Given the description of an element on the screen output the (x, y) to click on. 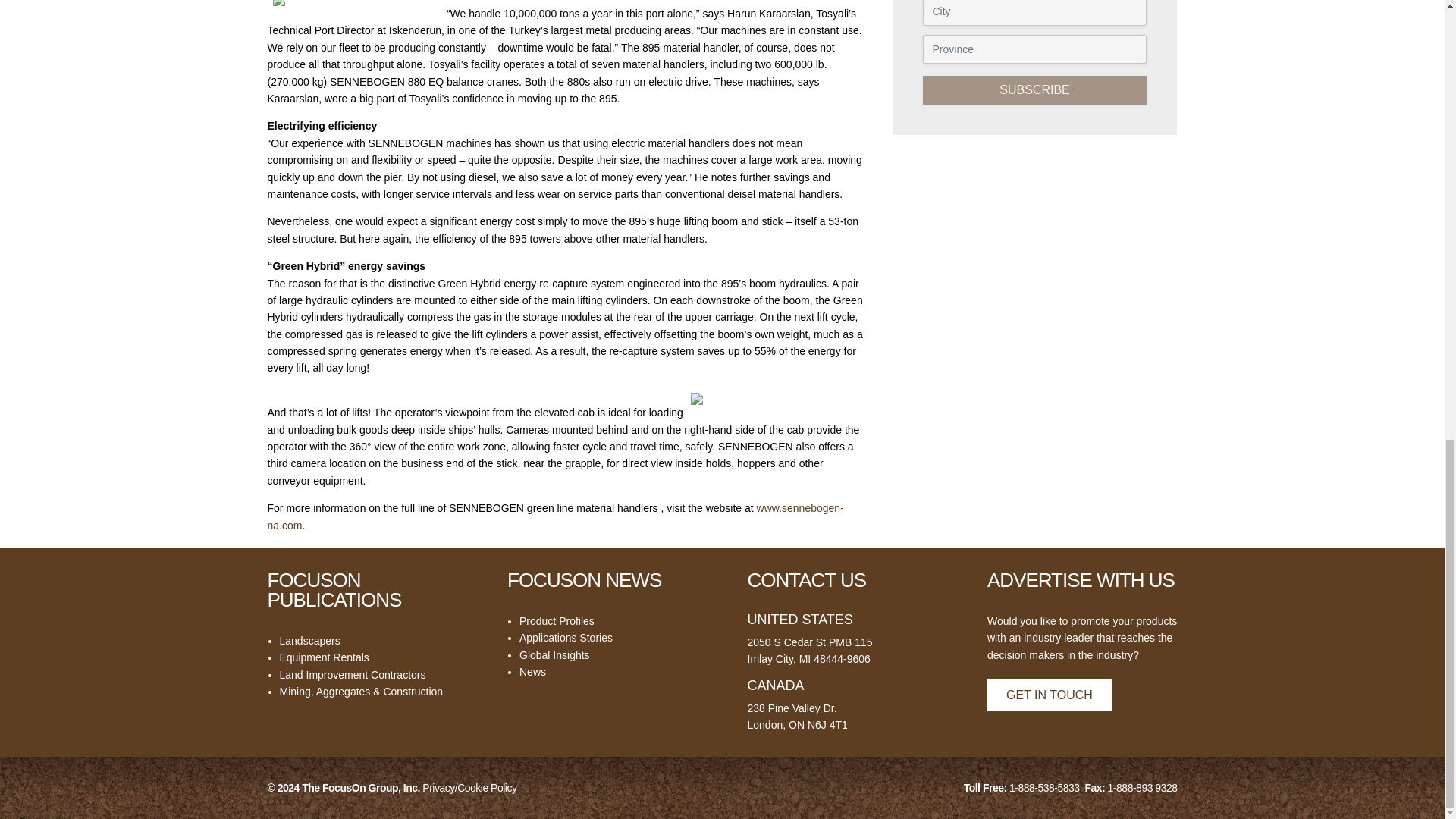
Subscribe (1034, 90)
Subscribe (1034, 90)
GET IN TOUCH (1049, 694)
www.sennebogen-na.com (554, 516)
